Given the description of an element on the screen output the (x, y) to click on. 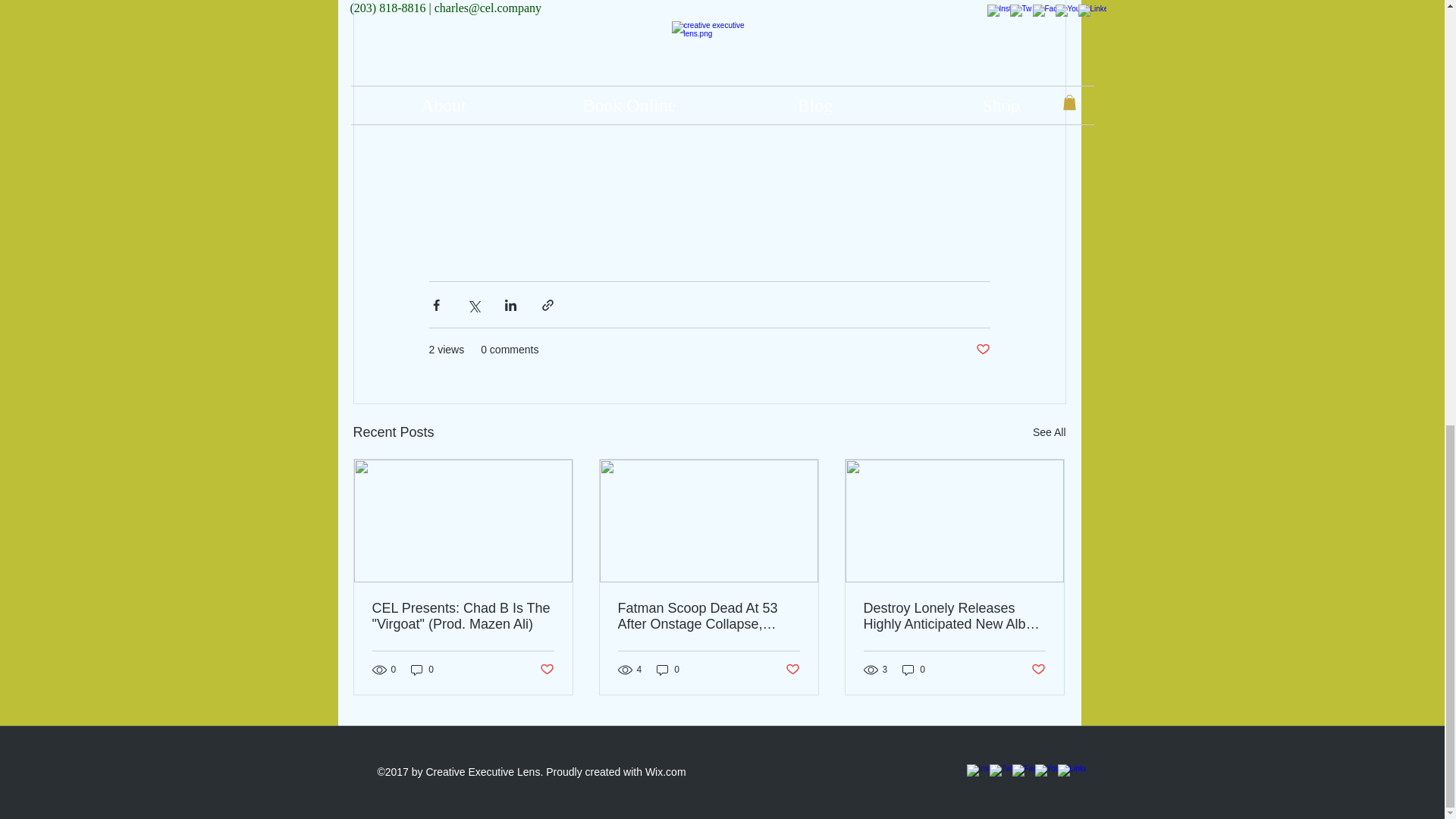
Post not marked as liked (1037, 669)
Post not marked as liked (792, 669)
See All (1048, 432)
0 (422, 669)
0 (913, 669)
0 (668, 669)
Post not marked as liked (547, 669)
Post not marked as liked (982, 349)
